Given the description of an element on the screen output the (x, y) to click on. 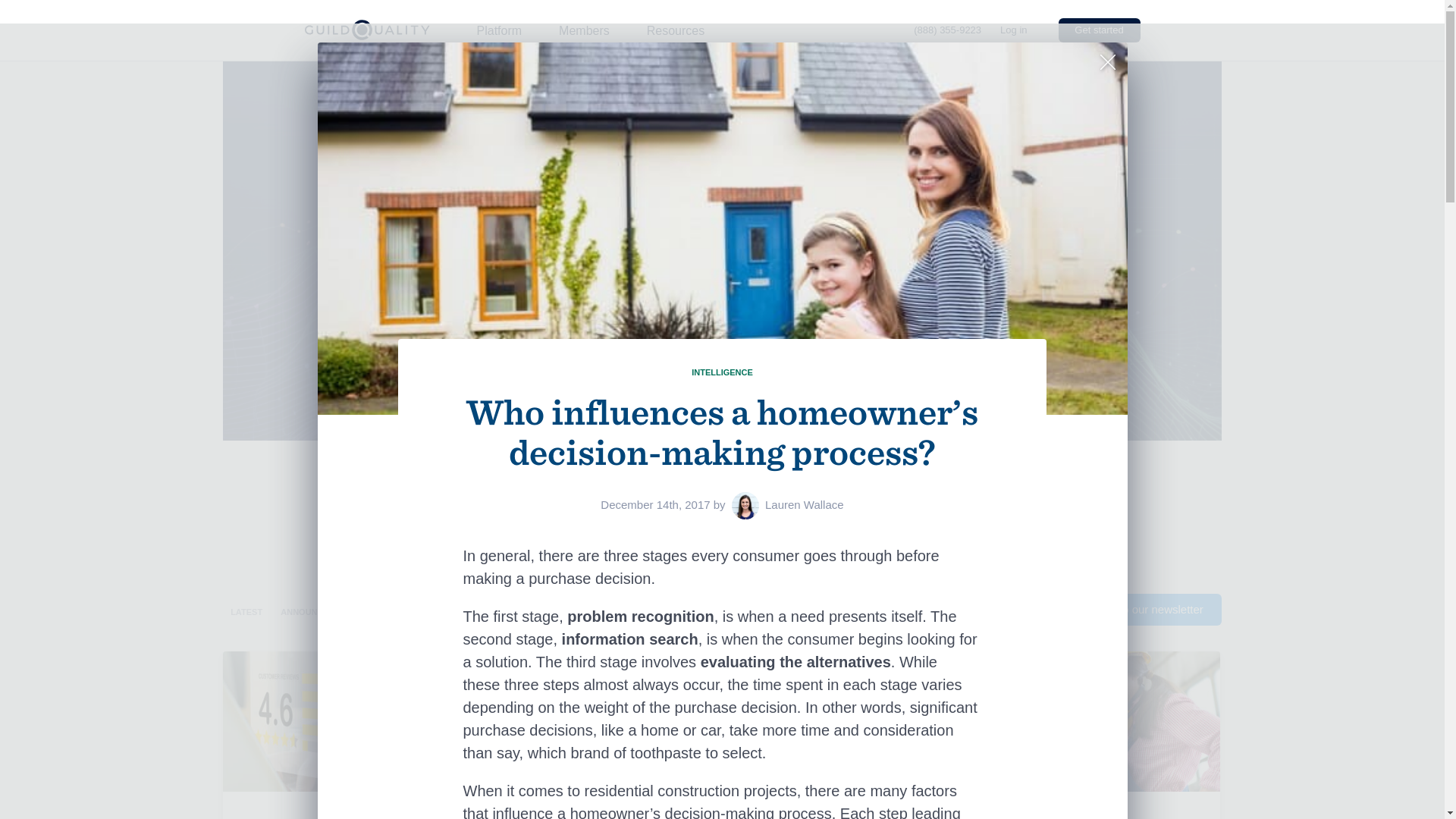
Get started (1099, 30)
Log in (1013, 30)
Platform (498, 30)
Resources (675, 30)
INTELLIGENCE (721, 372)
Members (584, 30)
